Given the description of an element on the screen output the (x, y) to click on. 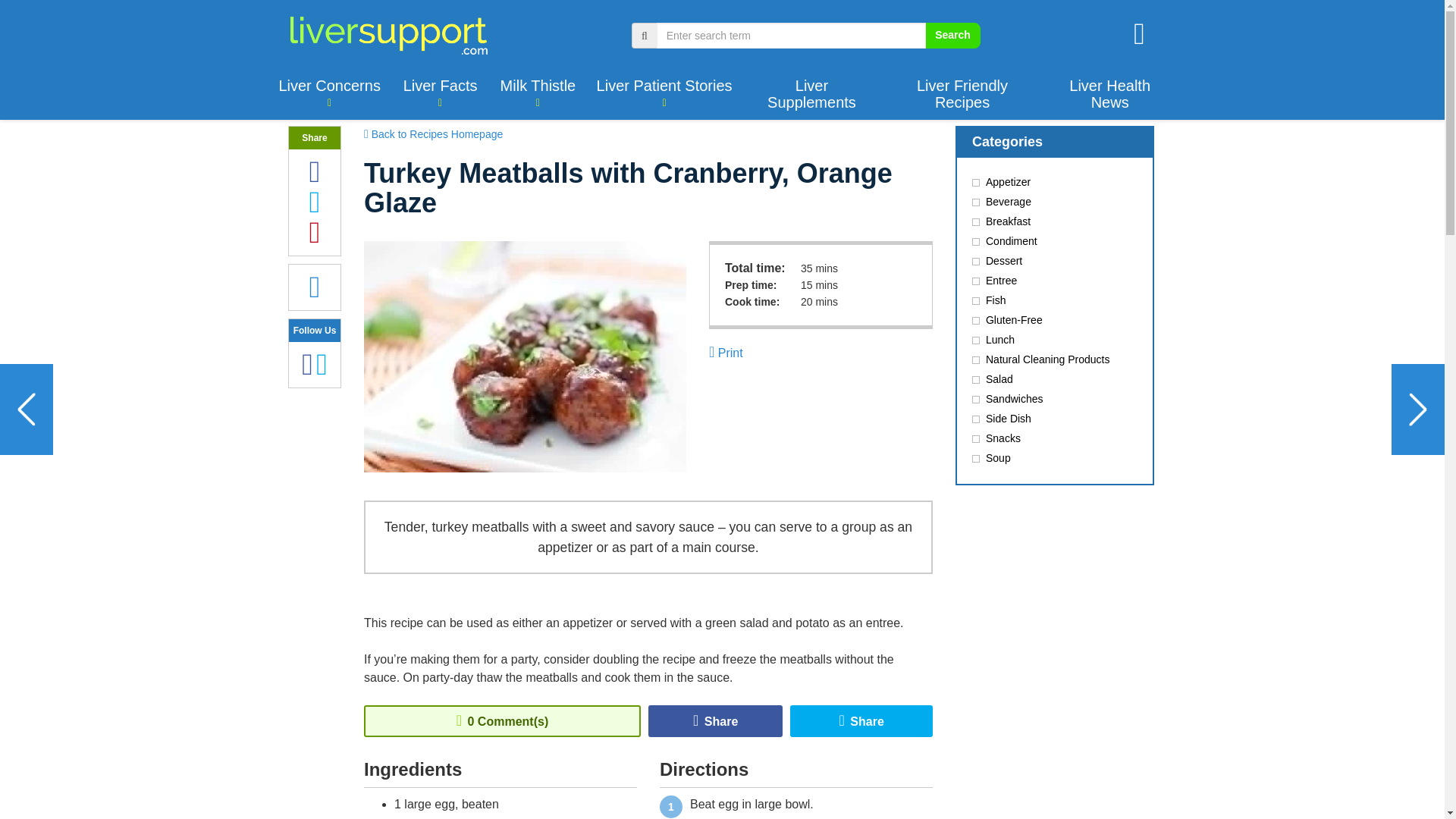
Liver Facts (440, 93)
Share this on Twitter (861, 721)
Liver Concerns (328, 93)
Search (951, 35)
LiverSupport (388, 35)
Milk Thistle (536, 93)
Comments (315, 286)
Share this on Facebook (715, 721)
Share this on Pinterest (327, 239)
